Given the description of an element on the screen output the (x, y) to click on. 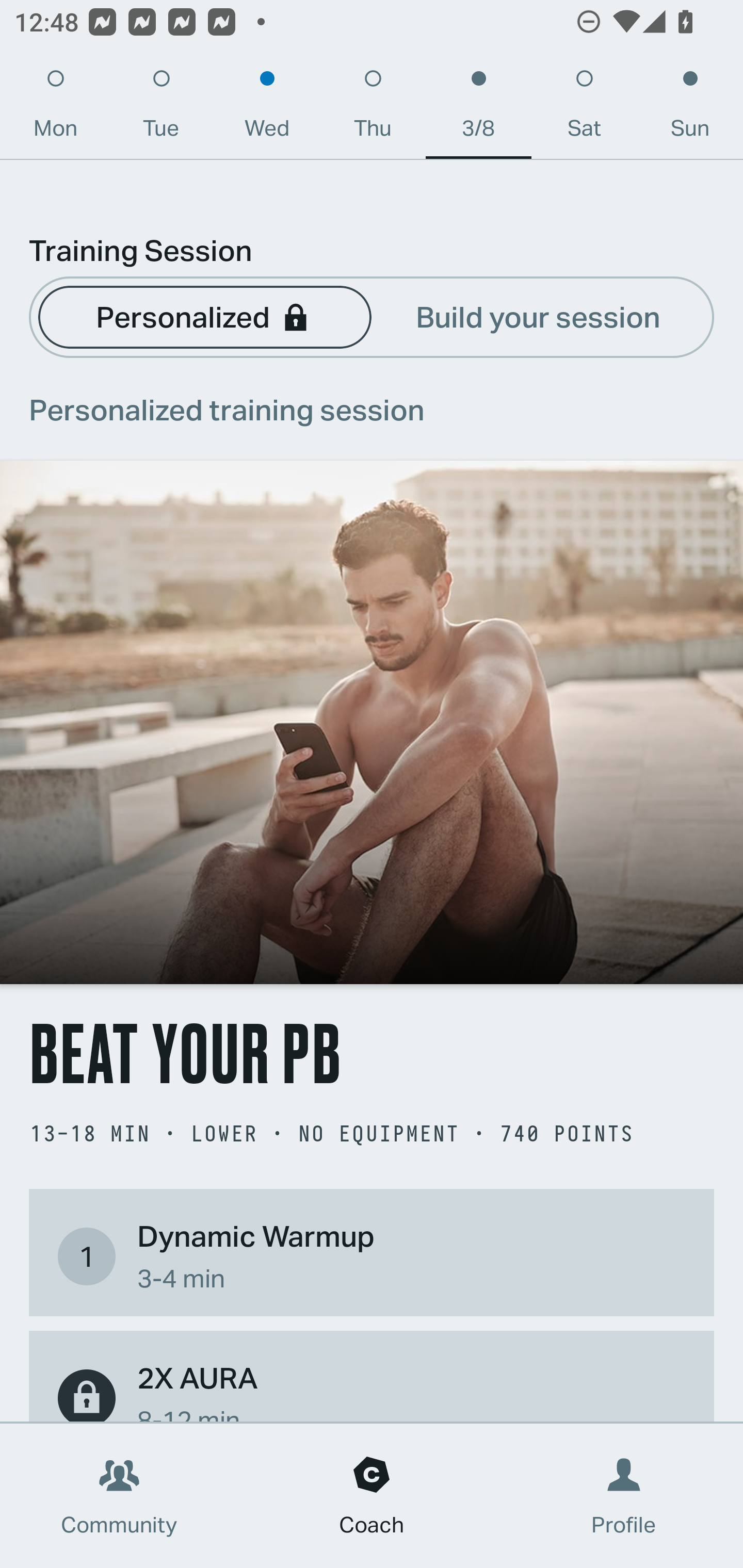
Mon (55, 108)
Tue (160, 108)
Wed (266, 108)
Thu (372, 108)
3/8 (478, 108)
Sat (584, 108)
Sun (690, 108)
Personalized (204, 315)
Build your session (538, 315)
1 Dynamic Warmup 3-4 min (371, 1256)
2X AURA 8-12 min (371, 1388)
Community (119, 1495)
Profile (624, 1495)
